Given the description of an element on the screen output the (x, y) to click on. 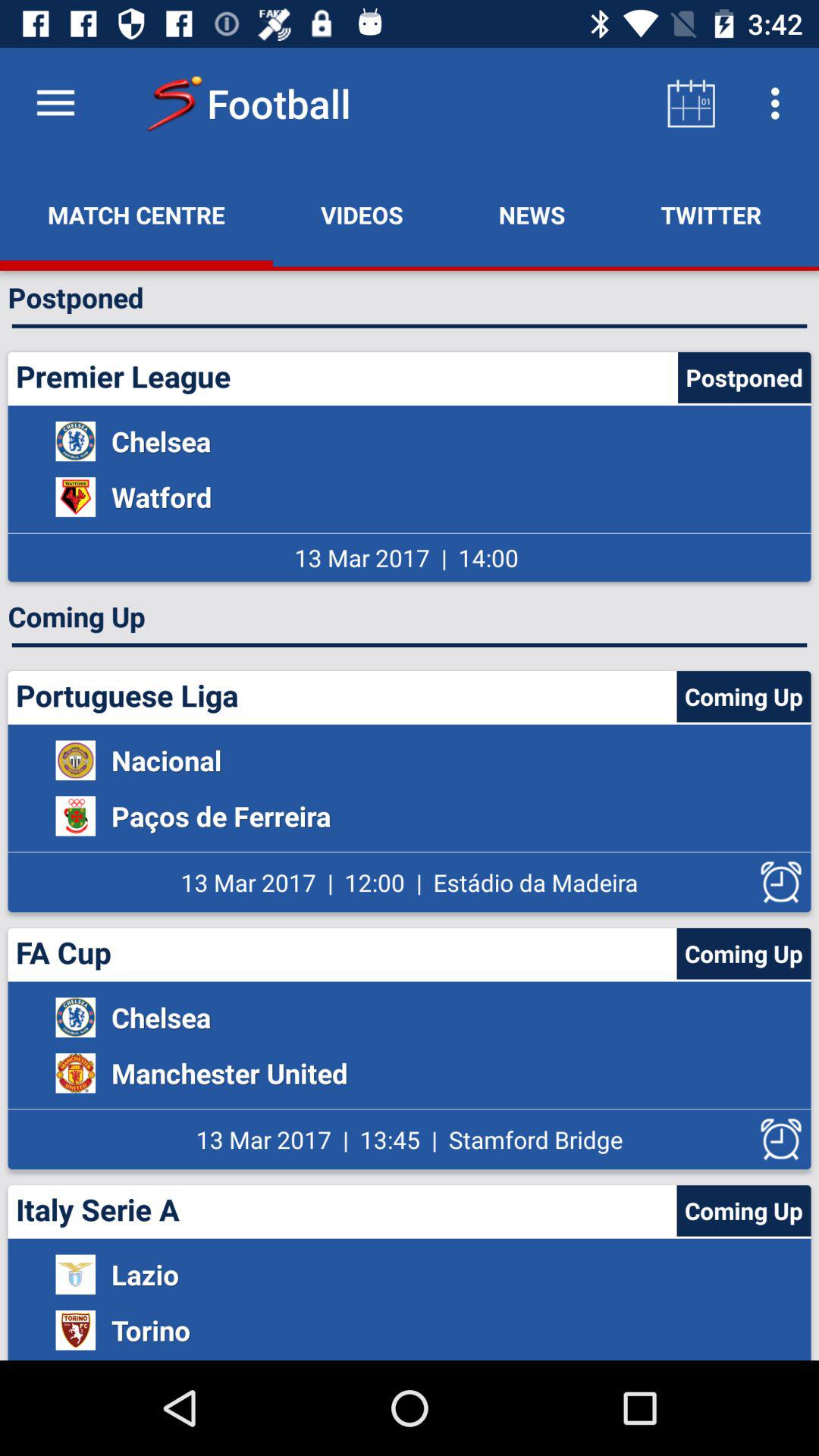
pull up main menu (55, 103)
